Given the description of an element on the screen output the (x, y) to click on. 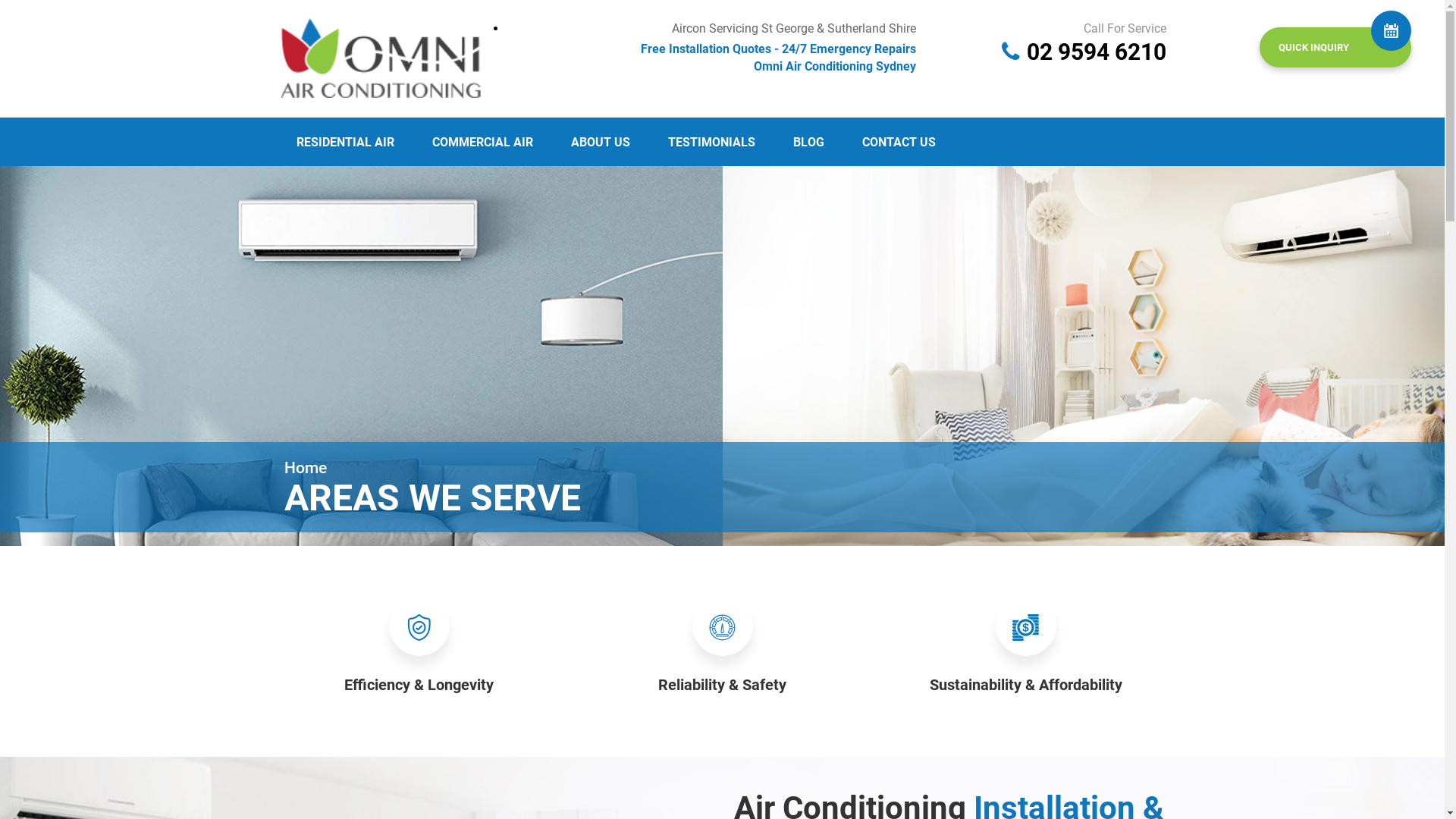
ABOUT US Element type: text (599, 141)
logo-omni Element type: hover (381, 55)
TESTIMONIALS Element type: text (710, 141)
CONTACT US Element type: text (898, 141)
BLOG Element type: text (808, 141)
Home Element type: text (305, 467)
AREAS WE SERVE Element type: text (432, 497)
COMMERCIAL AIR Element type: text (482, 141)
QUICK INQUIRY Element type: text (1335, 47)
Send Message Element type: text (665, 637)
RESIDENTIAL AIR Element type: text (344, 141)
02 9594 6210 Element type: text (1096, 51)
